Given the description of an element on the screen output the (x, y) to click on. 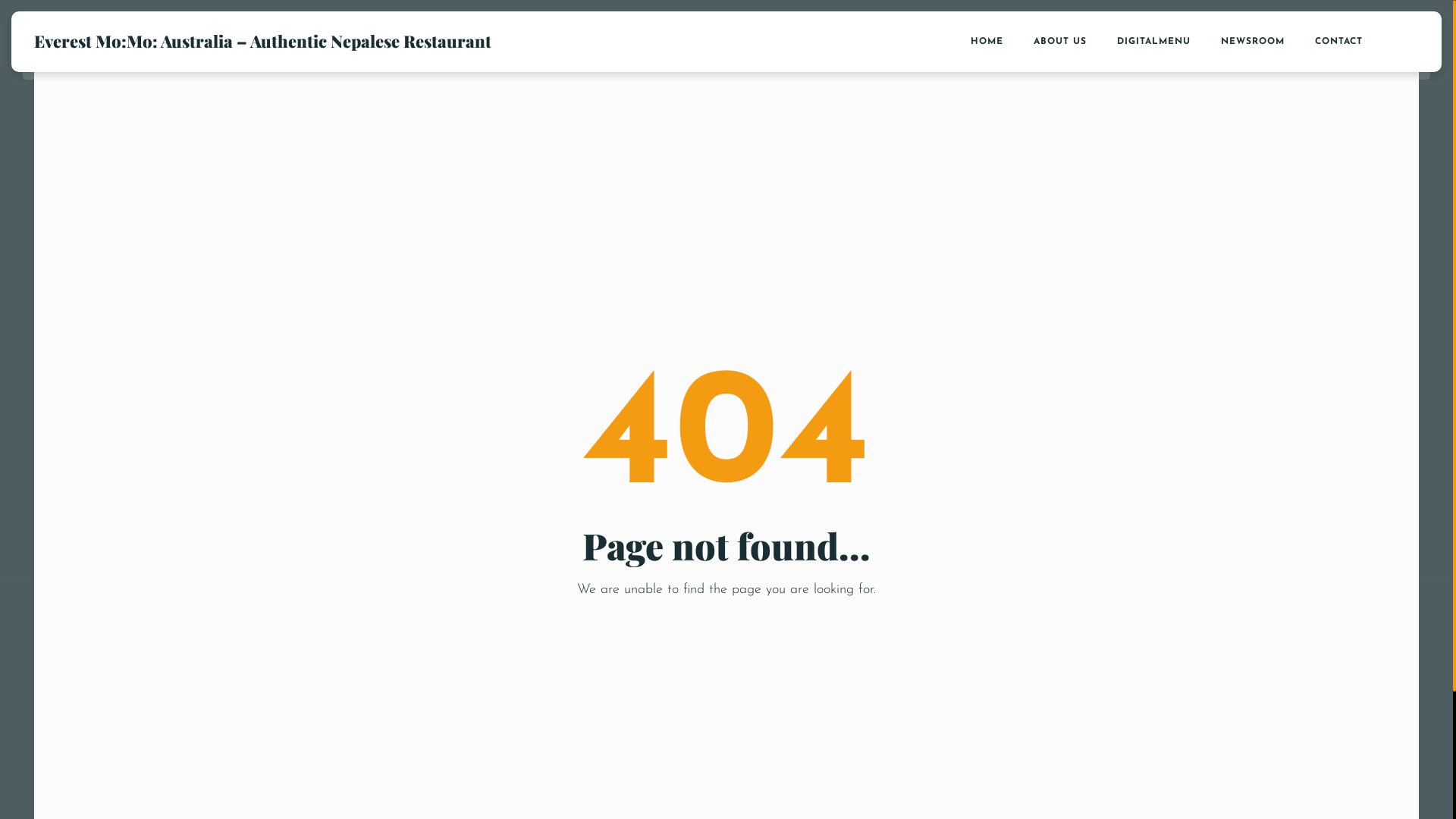
DIGITALMENU Element type: text (1153, 41)
ABOUT US Element type: text (1059, 41)
NEWSROOM Element type: text (1252, 41)
CONTACT Element type: text (1338, 41)
HOME Element type: text (986, 41)
